Given the description of an element on the screen output the (x, y) to click on. 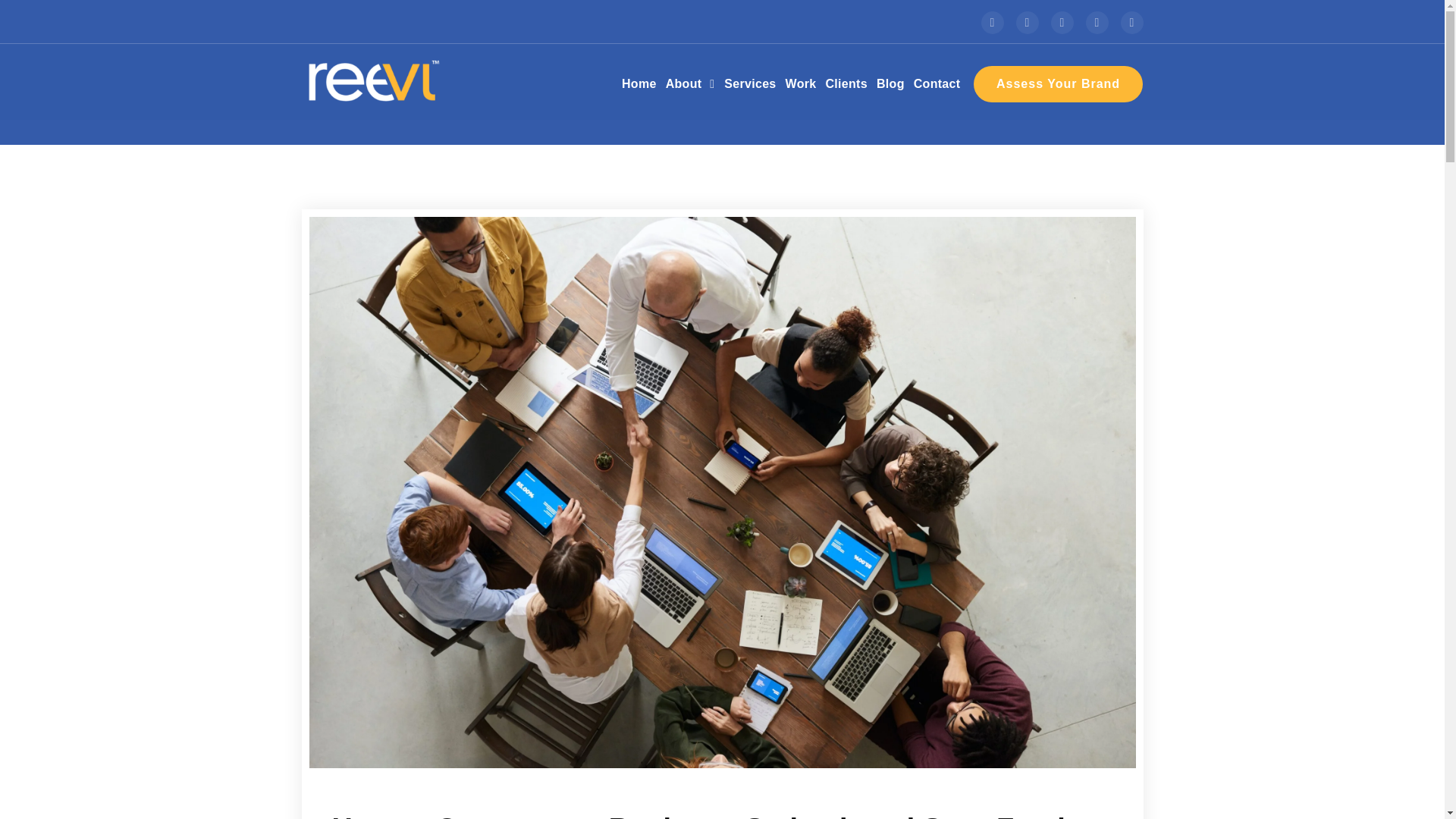
Services (749, 83)
Assess Your Brand (1058, 83)
About (690, 83)
About (690, 83)
Services (749, 83)
